Given the description of an element on the screen output the (x, y) to click on. 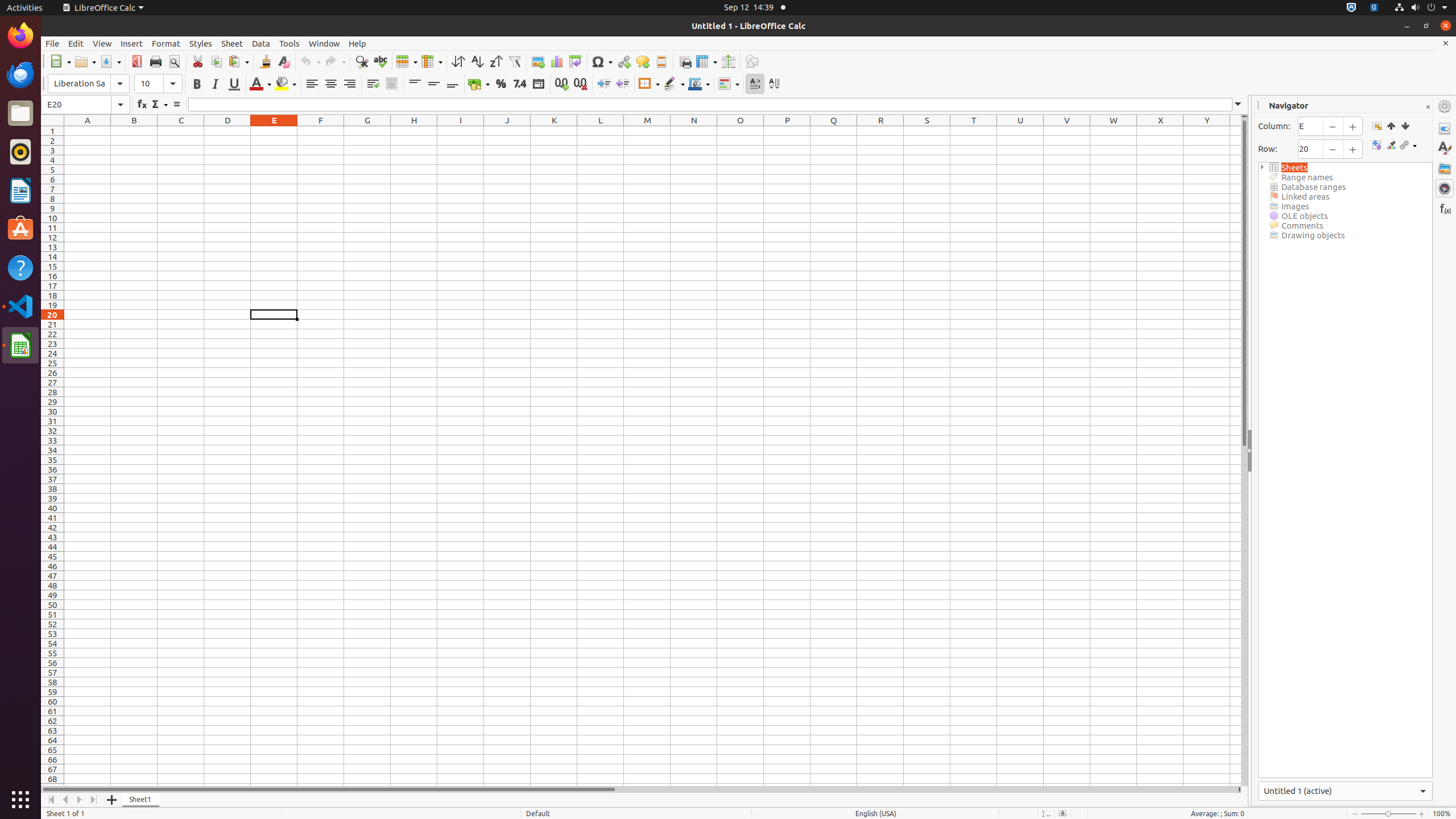
Start Element type: push-button (1390, 125)
Name Box Element type: combo-box (85, 104)
Percent Element type: push-button (500, 83)
Increase Element type: push-button (603, 83)
Toggle Element type: push-button (1376, 144)
